Given the description of an element on the screen output the (x, y) to click on. 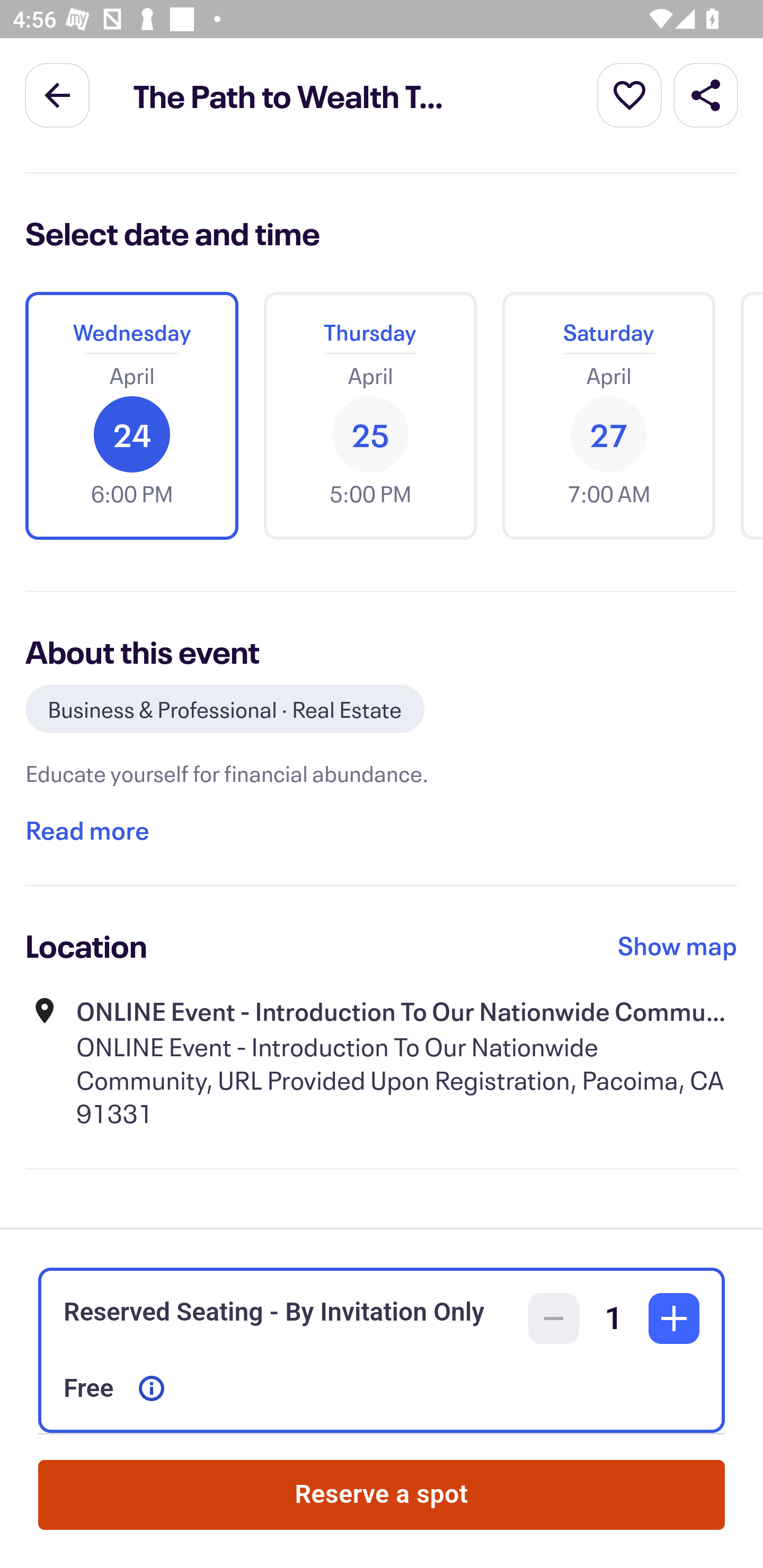
Back (57, 94)
More (629, 94)
Share (705, 94)
Wednesday April 24 6:00 PM (131, 415)
Thursday April 25 5:00 PM (370, 415)
Saturday April 27 7:00 AM (608, 415)
Read more (87, 829)
Show map (677, 945)
Decrease (553, 1318)
Increase (673, 1318)
Show more information (151, 1388)
Reserve a spot (381, 1494)
